Given the description of an element on the screen output the (x, y) to click on. 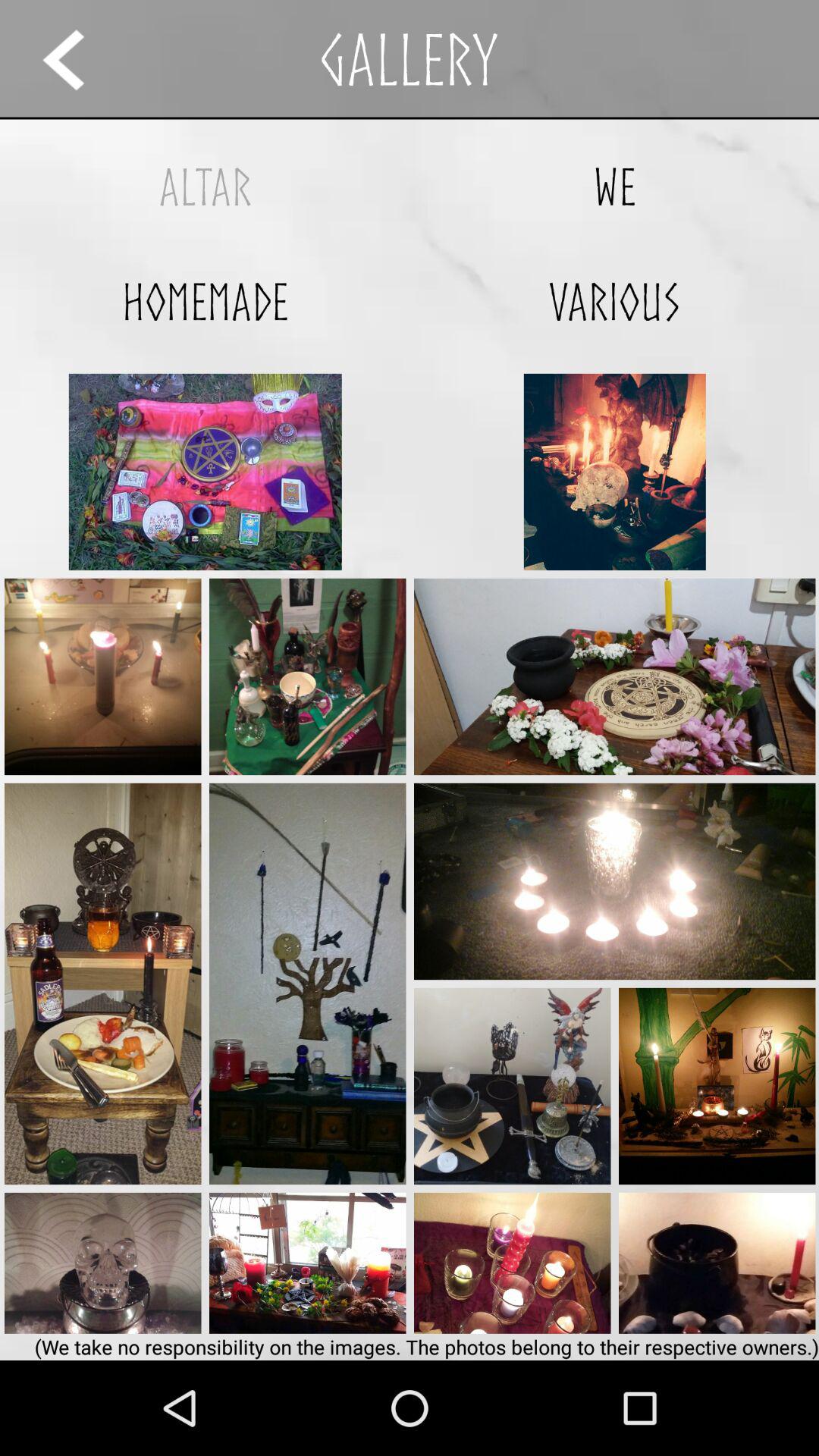
launch the icon to the left of the gallery item (77, 59)
